Given the description of an element on the screen output the (x, y) to click on. 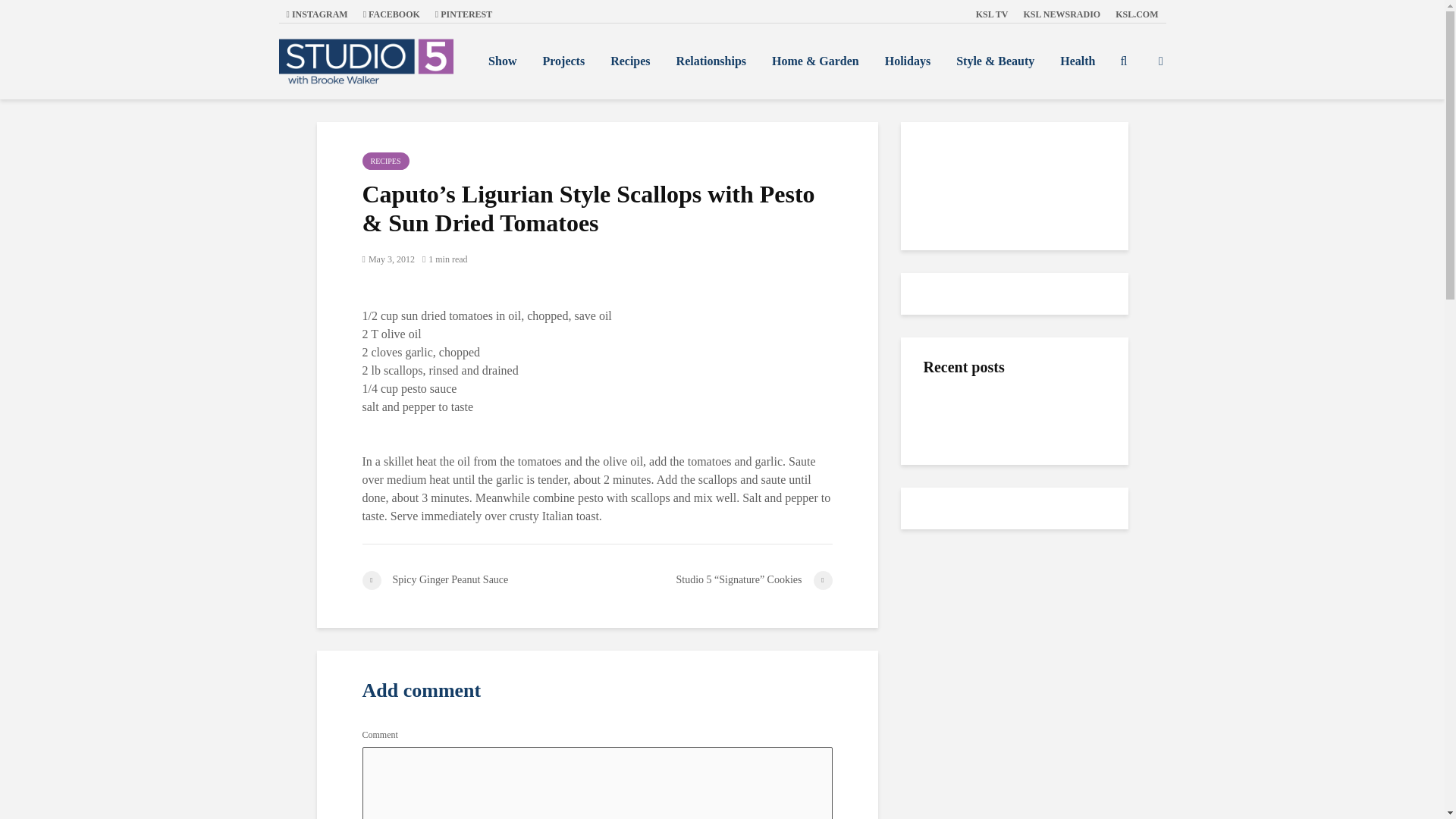
Health (1077, 60)
KSL.COM (1137, 14)
Show (502, 60)
FACEBOOK (391, 14)
Spicy Ginger Peanut Sauce (479, 579)
Projects (563, 60)
Relationships (711, 60)
Holidays (907, 60)
KSL TV (992, 14)
RECIPES (385, 160)
